Given the description of an element on the screen output the (x, y) to click on. 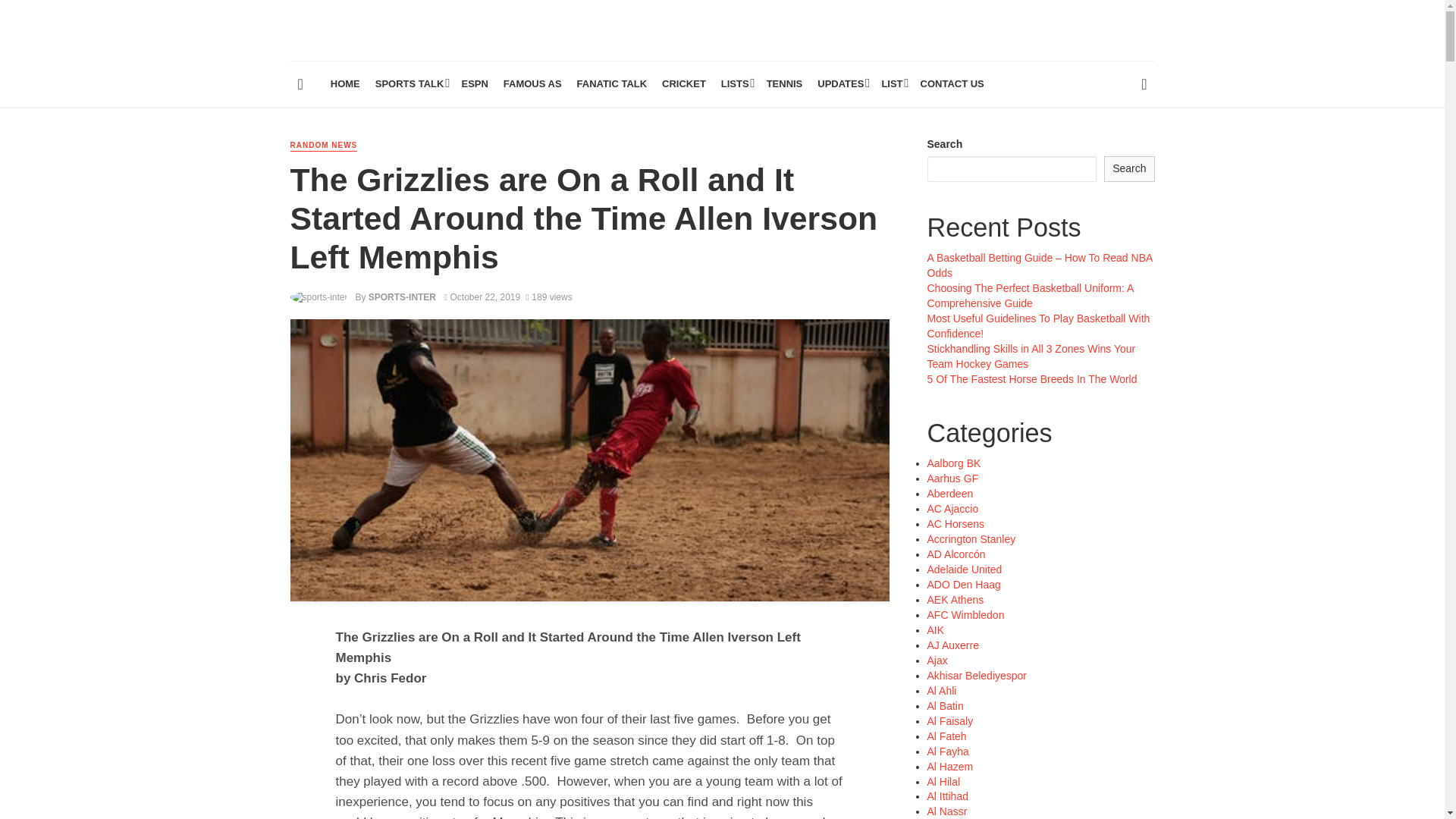
October 22, 2019 at 7:00 am (482, 296)
TENNIS (784, 84)
CRICKET (683, 84)
SPORTS TALK (411, 84)
FAMOUS AS (532, 84)
UPDATES (841, 84)
HOME (345, 84)
FANATIC TALK (612, 84)
Posts by sports-inter (401, 296)
LISTS (735, 84)
